Given the description of an element on the screen output the (x, y) to click on. 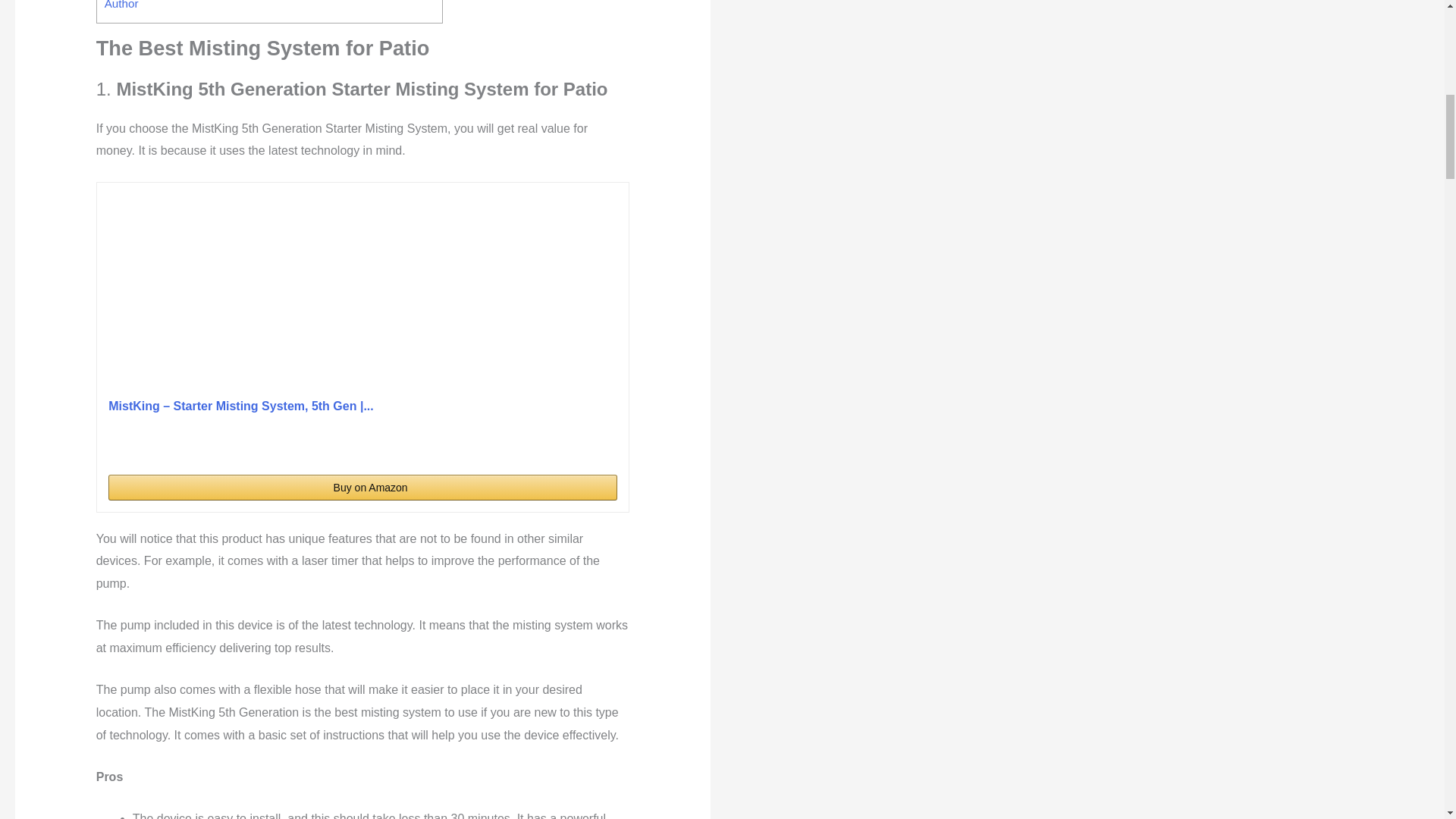
Amazon Prime (596, 447)
Buy on Amazon (362, 487)
